Given the description of an element on the screen output the (x, y) to click on. 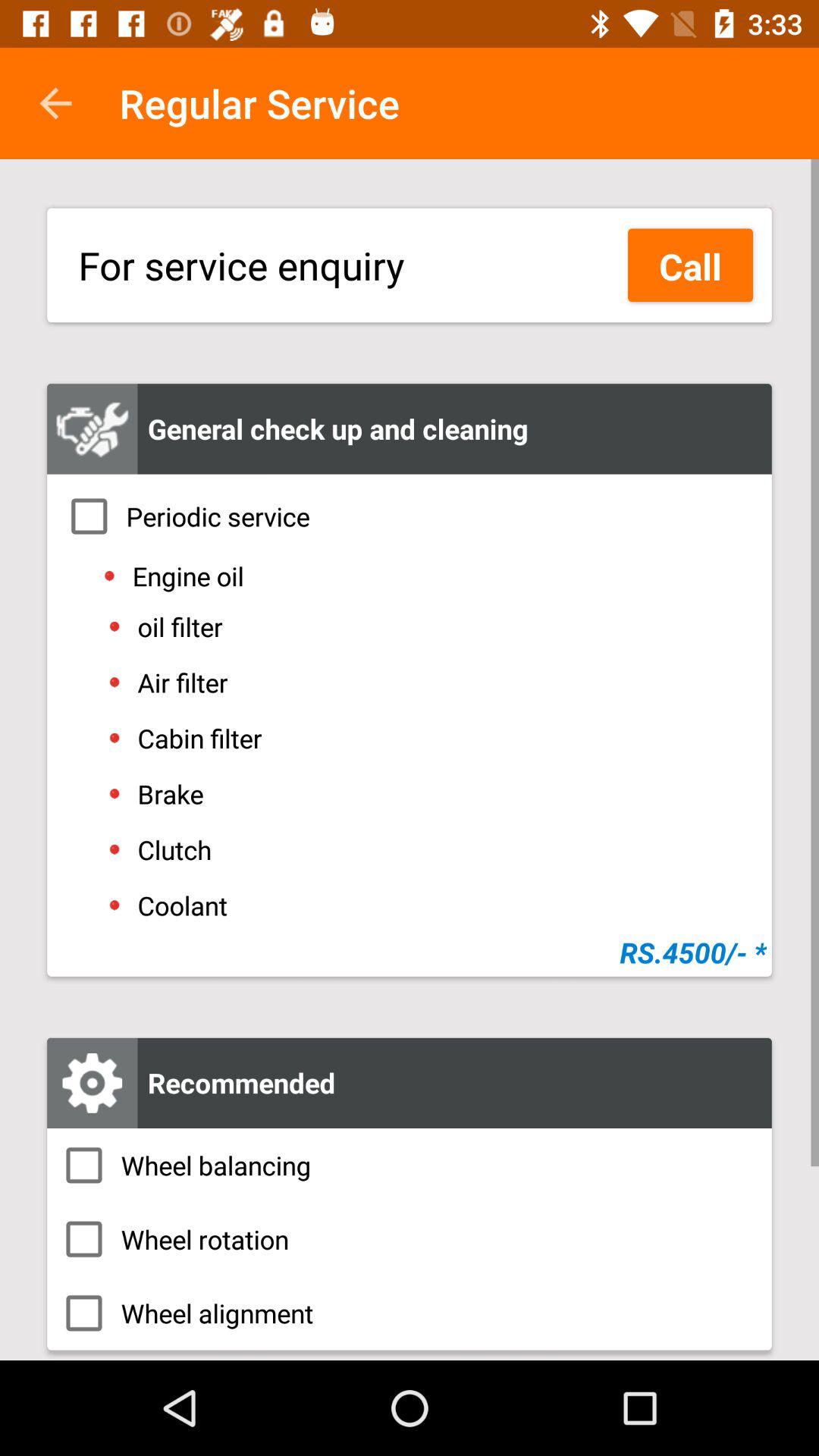
turn on the  call  item (690, 265)
